Given the description of an element on the screen output the (x, y) to click on. 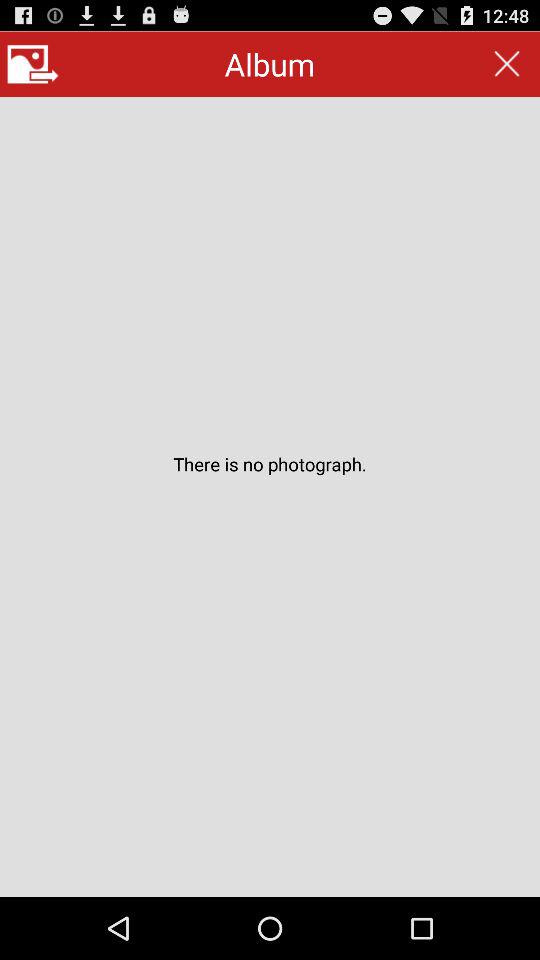
turn on the item next to the album app (506, 64)
